Given the description of an element on the screen output the (x, y) to click on. 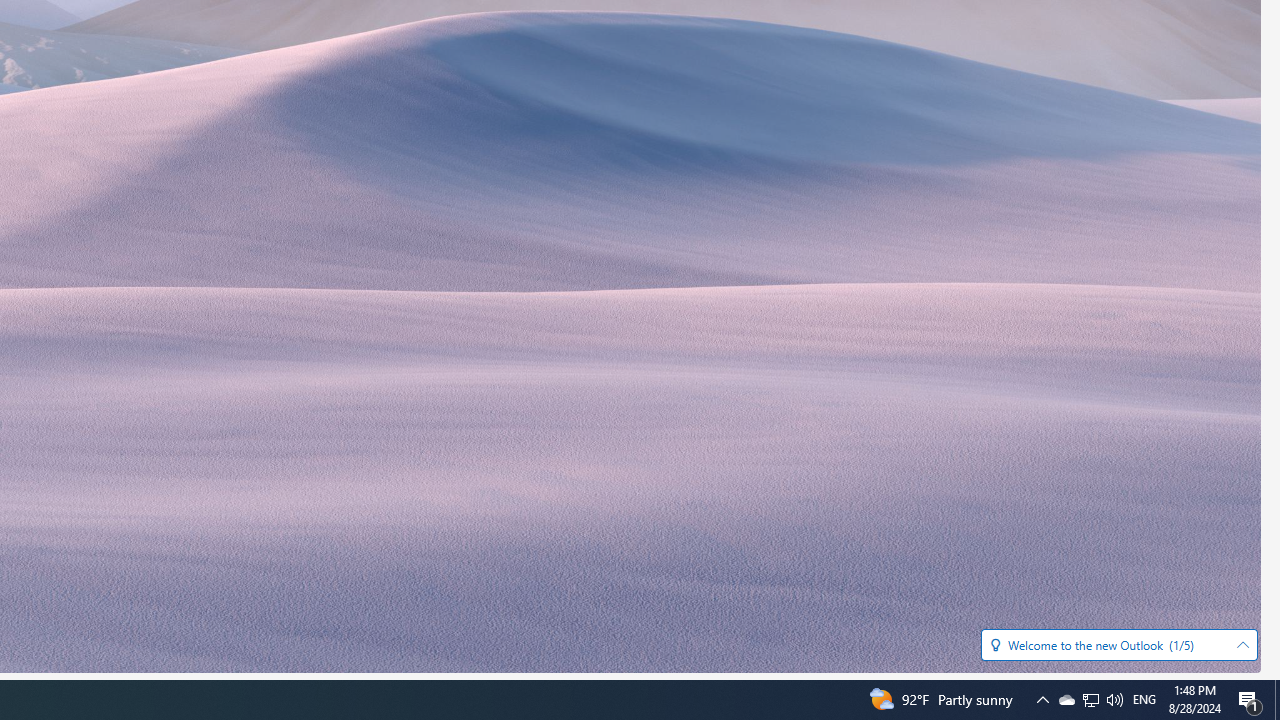
Open (1242, 645)
